Given the description of an element on the screen output the (x, y) to click on. 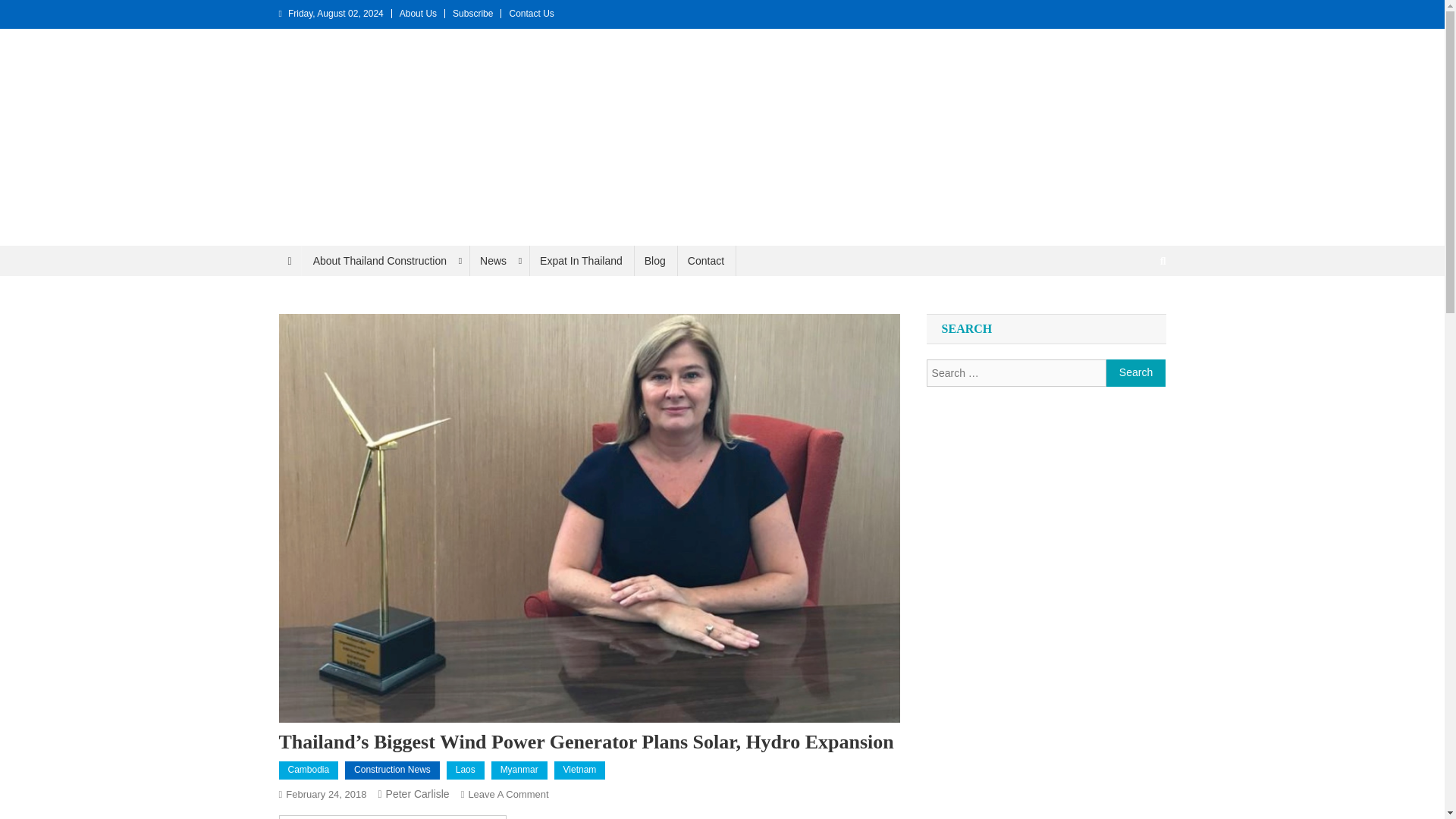
February 24, 2018 (325, 794)
Blog (654, 260)
Cambodia (309, 770)
Contact Us (530, 13)
Search (1133, 311)
Search (1136, 372)
Subscribe (472, 13)
Construction News (392, 770)
Vietnam (579, 770)
Peter Carlisle (417, 793)
